Given the description of an element on the screen output the (x, y) to click on. 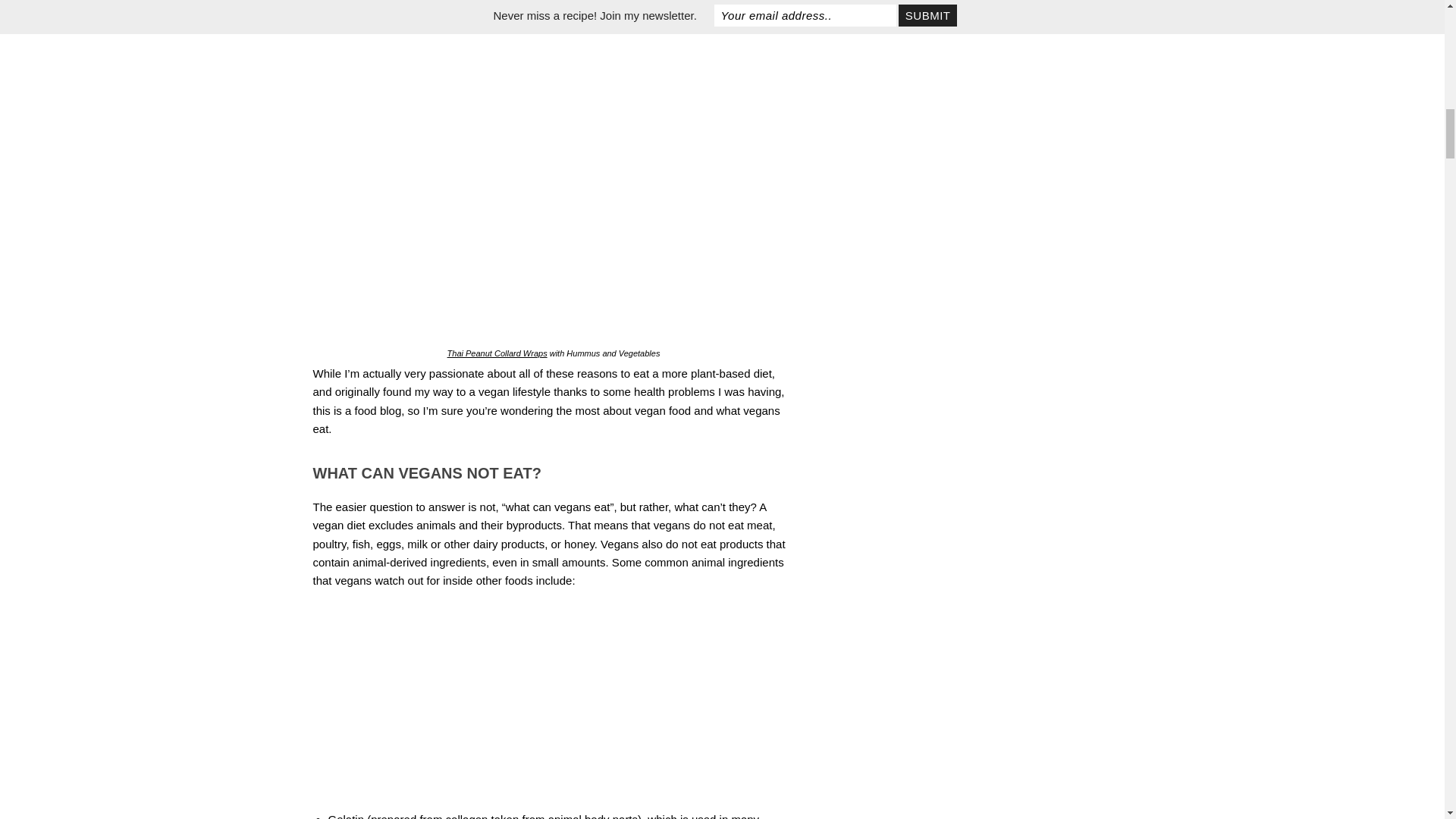
Thai Peanut Collard Wraps (496, 352)
